Given the description of an element on the screen output the (x, y) to click on. 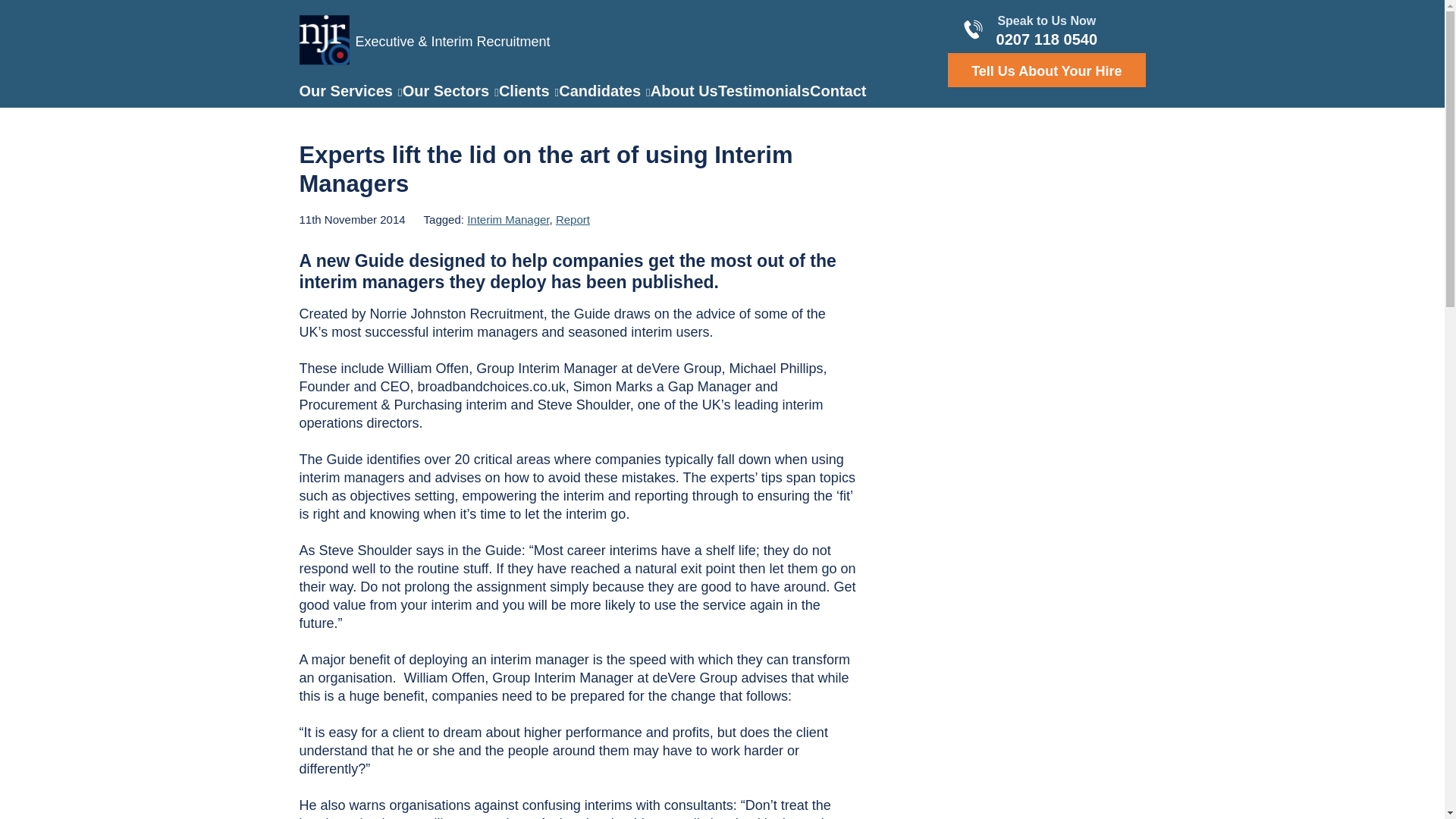
About Us (683, 90)
Report (572, 219)
Clients (529, 91)
Contact (837, 90)
Tell Us About Your Hire (1045, 69)
Interim Manager (507, 219)
0207 118 0540 (1046, 39)
Candidates (604, 91)
Our Sectors (451, 91)
Testimonials (763, 90)
Our Services (349, 91)
